Given the description of an element on the screen output the (x, y) to click on. 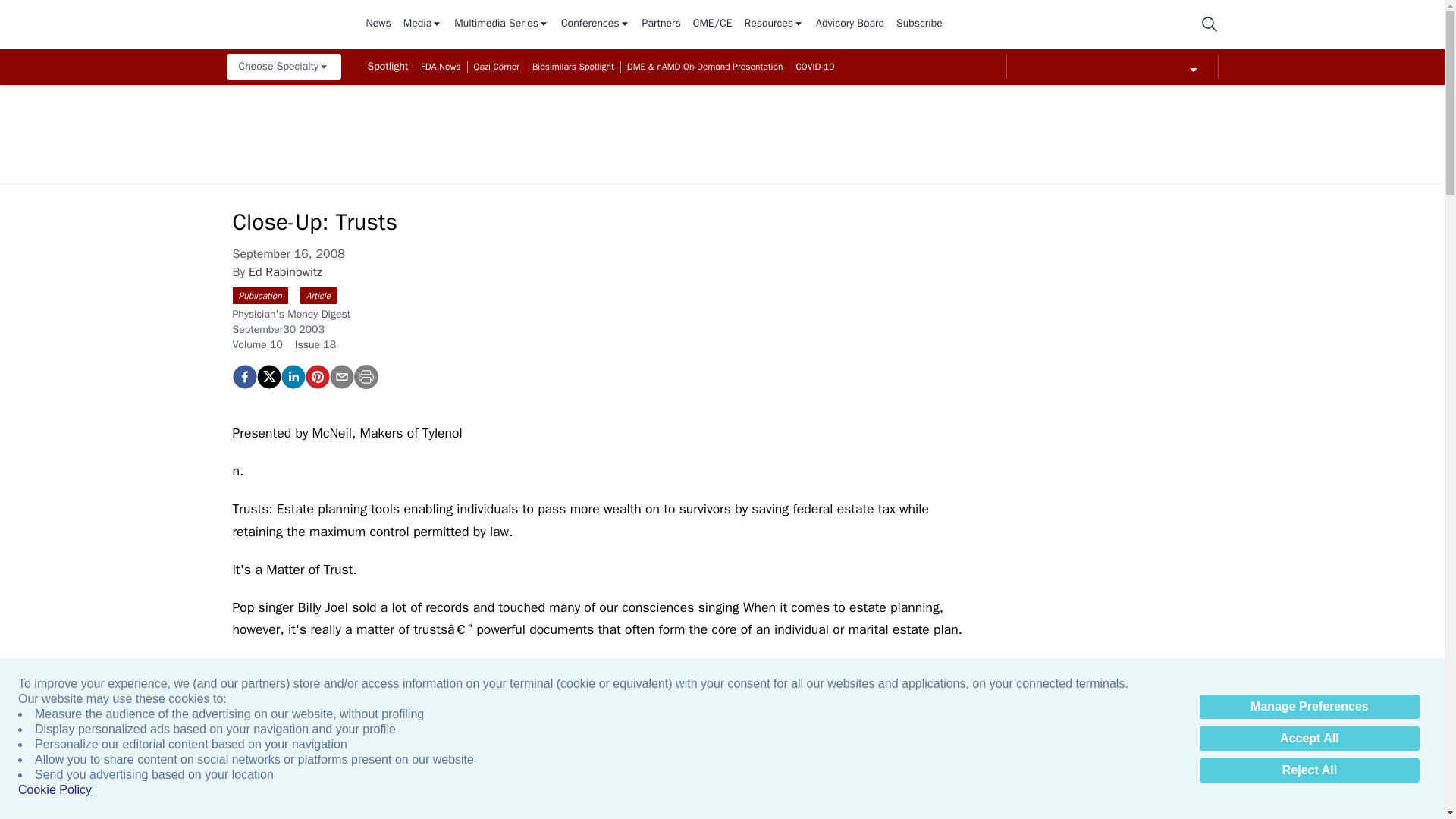
Multimedia Series (501, 23)
Conferences (595, 23)
Resources (773, 23)
Partners (661, 23)
Close-Up: Trusts (316, 376)
Advisory Board (849, 23)
Cookie Policy (54, 789)
Reject All (1309, 769)
Choose Specialty (282, 66)
Media (422, 23)
Close-Up: Trusts (243, 376)
Accept All (1309, 738)
Subscribe (919, 23)
Manage Preferences (1309, 706)
News (377, 23)
